Given the description of an element on the screen output the (x, y) to click on. 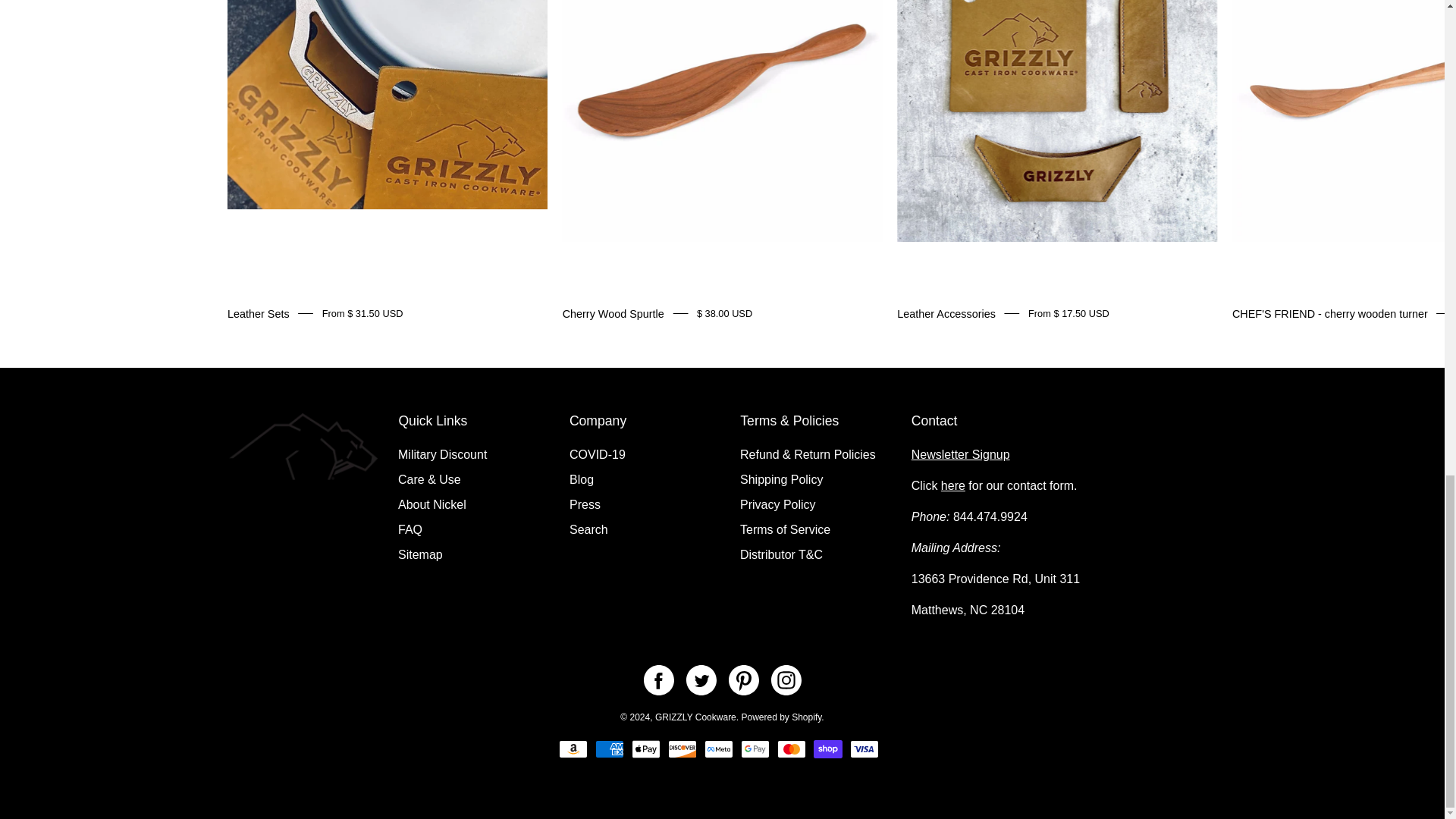
View GRIZZLY Cookware on Twitter (700, 680)
Contact (952, 485)
View GRIZZLY Cookware on Facebook (657, 680)
View GRIZZLY Cookware on Instagram (785, 680)
View GRIZZLY Cookware on Pinterest (743, 680)
